Given the description of an element on the screen output the (x, y) to click on. 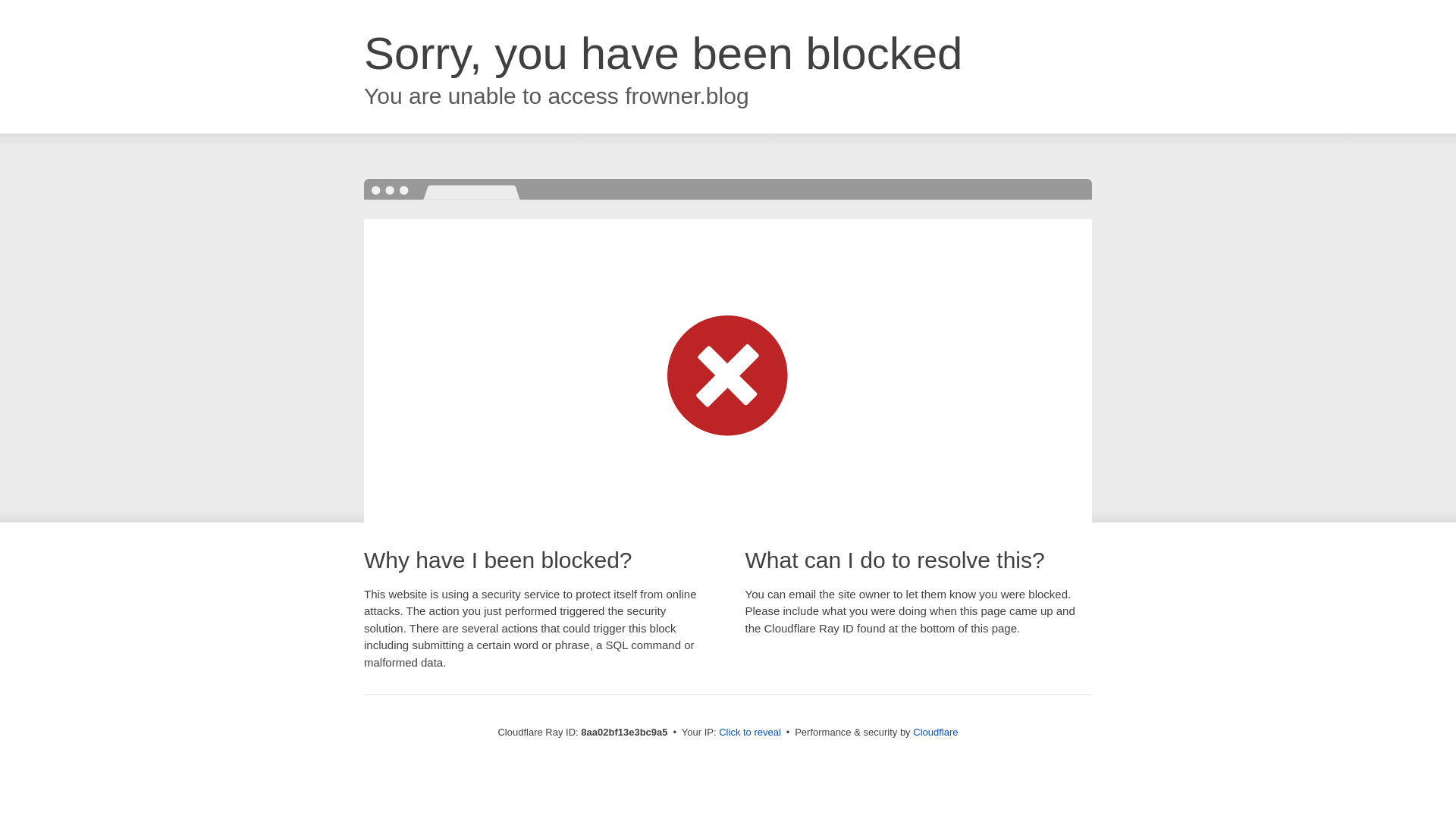
Click to reveal (749, 732)
Cloudflare (935, 731)
